Given the description of an element on the screen output the (x, y) to click on. 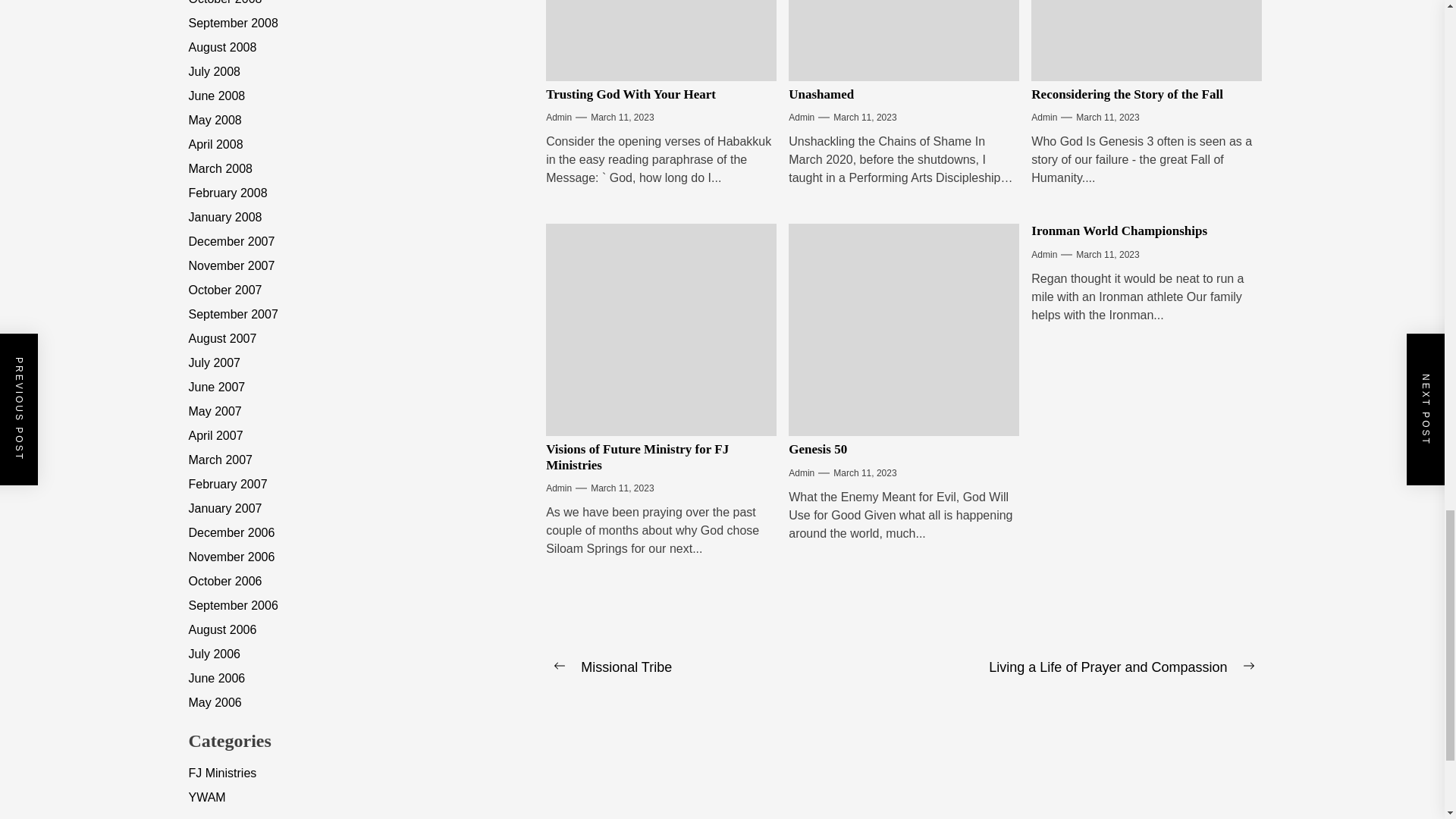
Admin (559, 117)
Trusting God With Your Heart (631, 93)
March 11, 2023 (622, 117)
